Given the description of an element on the screen output the (x, y) to click on. 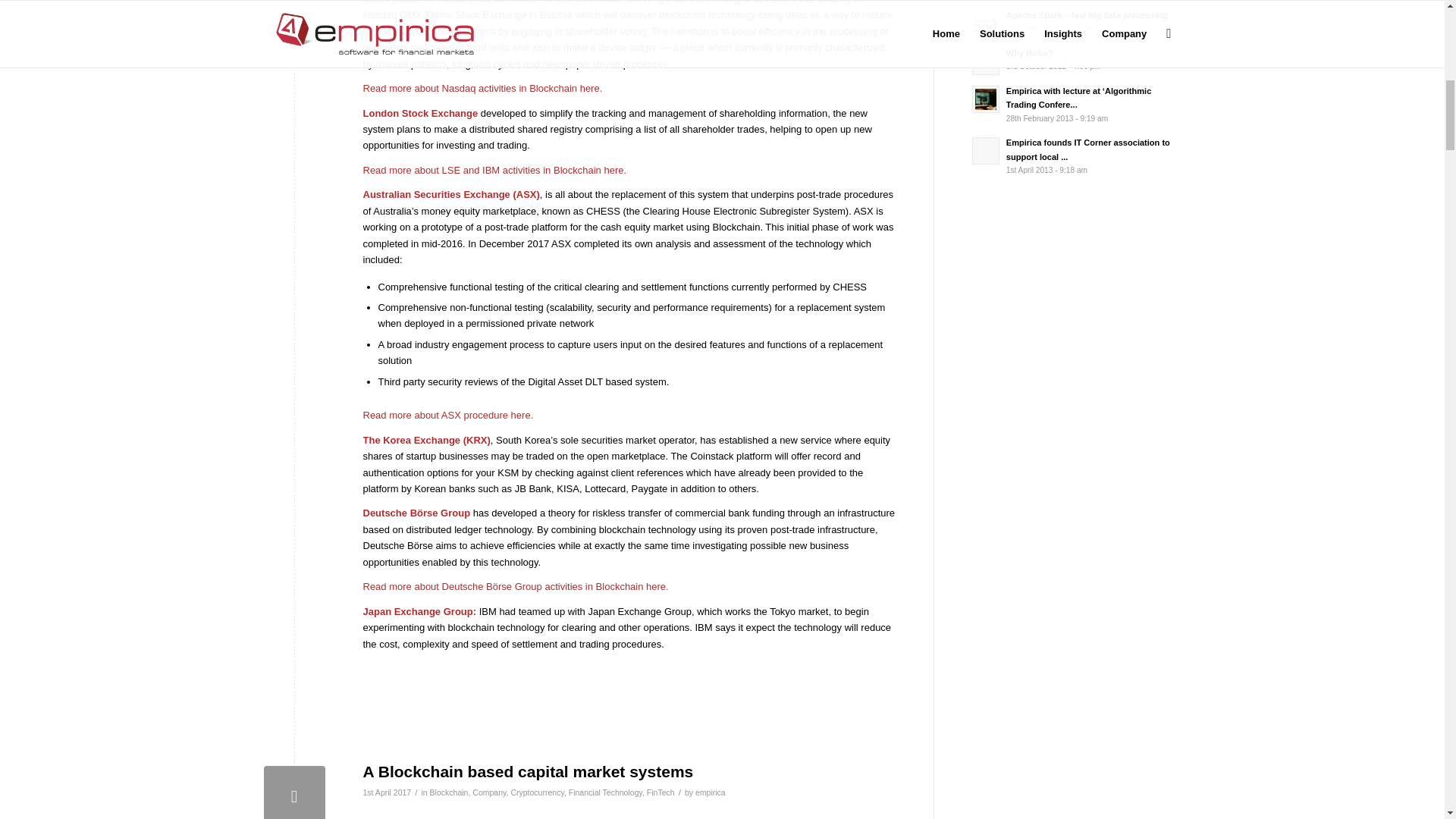
Read more about ASX procedure here. (447, 414)
Permanent Link: A Blockchain based capital market systems (527, 771)
A Blockchain based capital market systems (293, 792)
Read more about LSE and IBM activities in Blockchain here. (494, 170)
Read more about Nasdaq activities in Blockchain here. (482, 88)
Posts by empirica (710, 791)
